Given the description of an element on the screen output the (x, y) to click on. 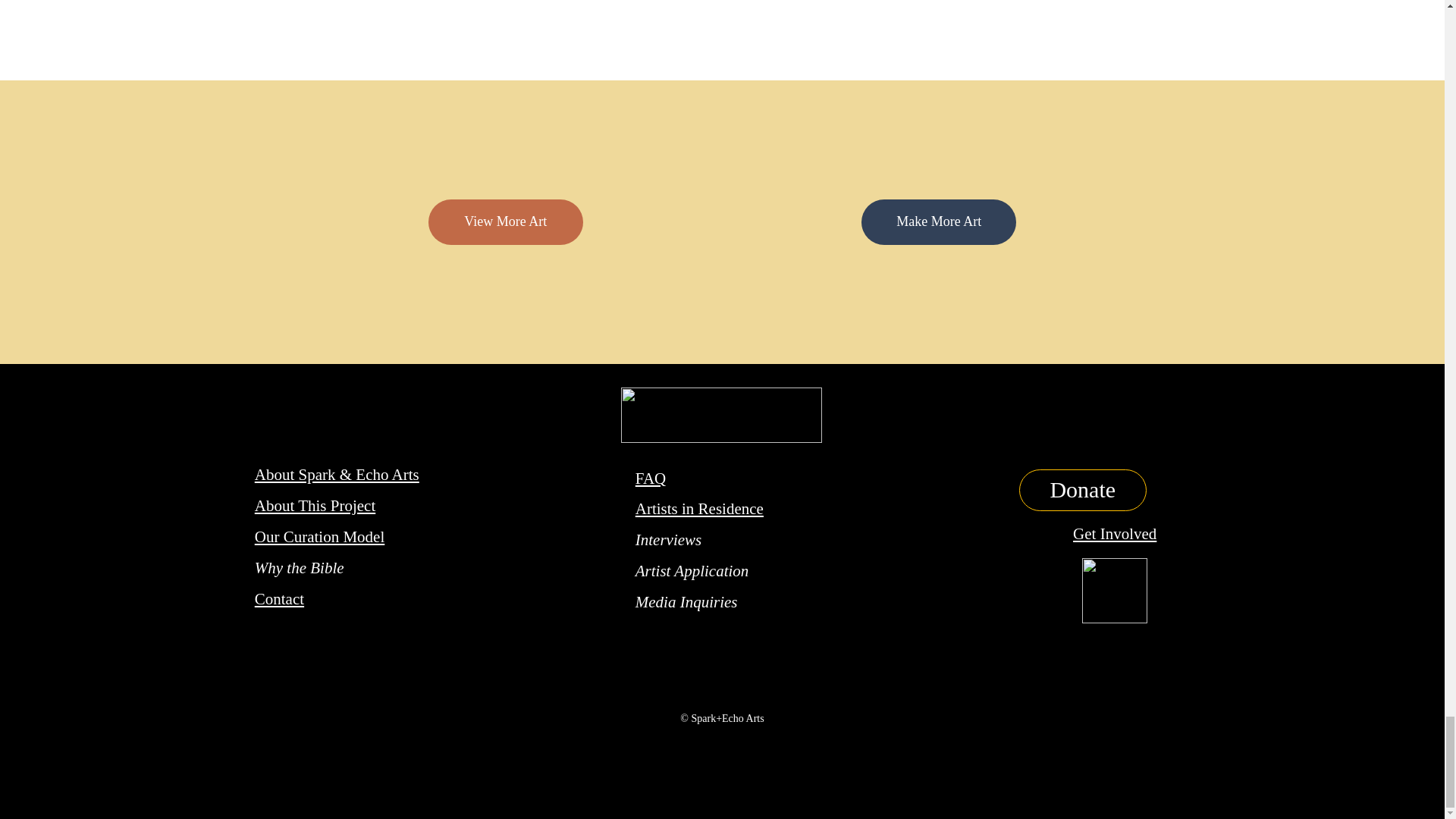
Get Involved (1114, 533)
Make More Art (938, 221)
About This Project (314, 505)
Donate (1083, 490)
Our Curation Model (319, 536)
FAQ (649, 478)
View More Art (505, 221)
Contact (279, 598)
Artists in Residence (698, 508)
